Given the description of an element on the screen output the (x, y) to click on. 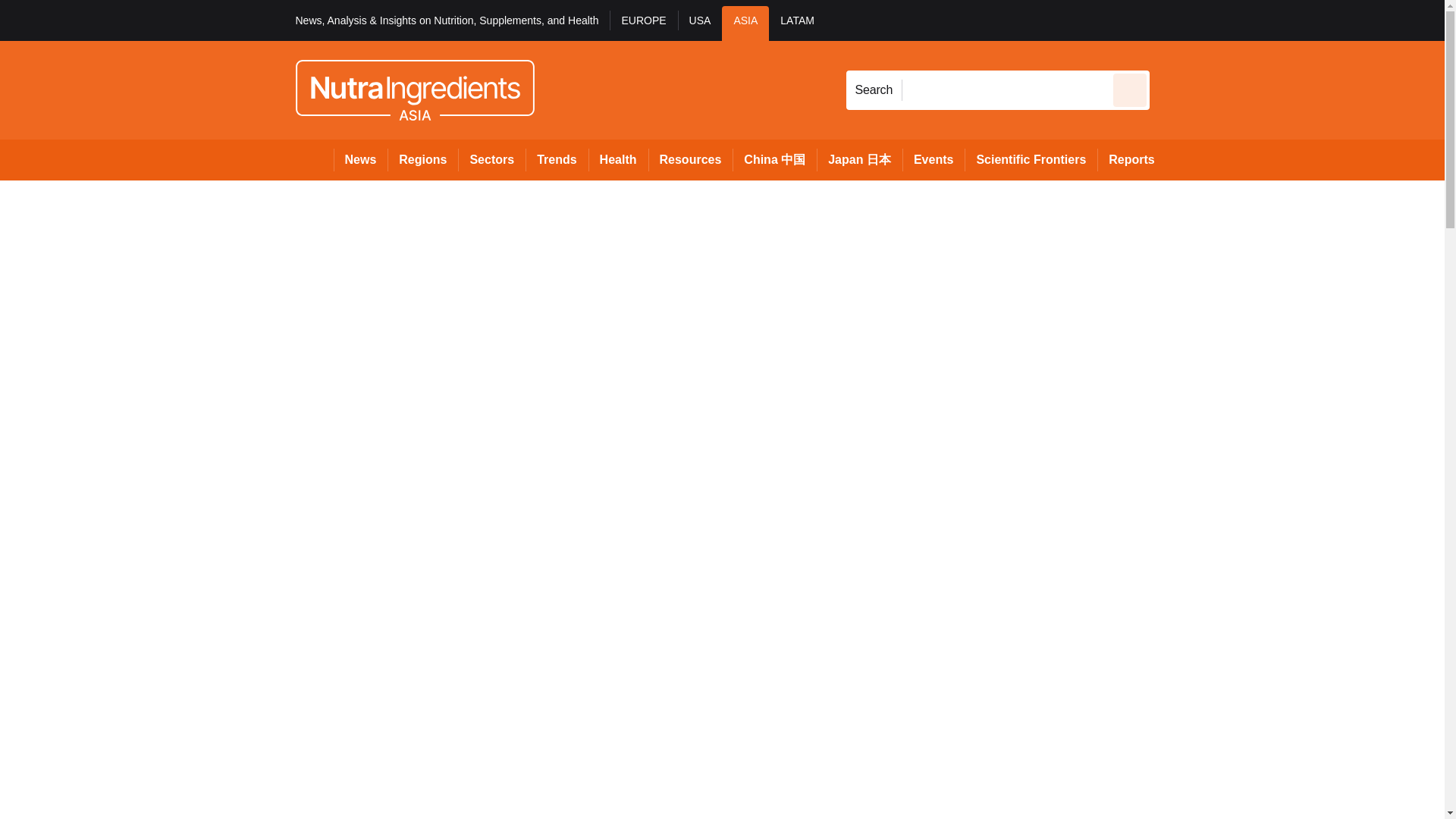
SUBSCRIBE (1362, 20)
LATAM (796, 22)
Register (1231, 20)
My account (1256, 20)
NutraIngredients Asia (414, 89)
USA (700, 22)
Home (314, 159)
Send (1129, 90)
Home (313, 159)
Send (1129, 89)
Sign out (1174, 20)
SUBSCRIBE (1318, 20)
EUROPE (643, 22)
ASIA (745, 22)
Sign in (1171, 20)
